Given the description of an element on the screen output the (x, y) to click on. 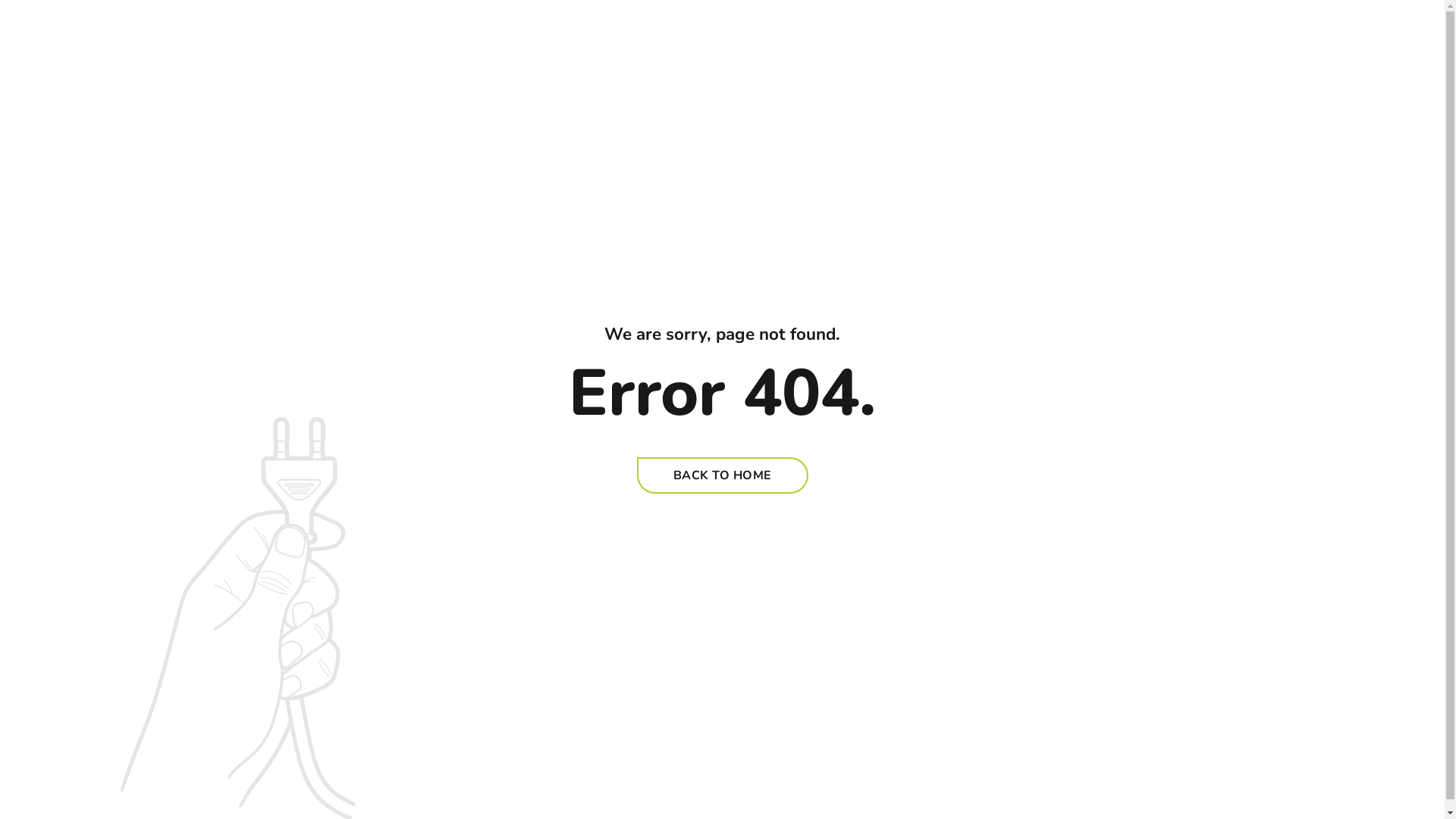
BACK TO HOME Element type: text (722, 475)
